Given the description of an element on the screen output the (x, y) to click on. 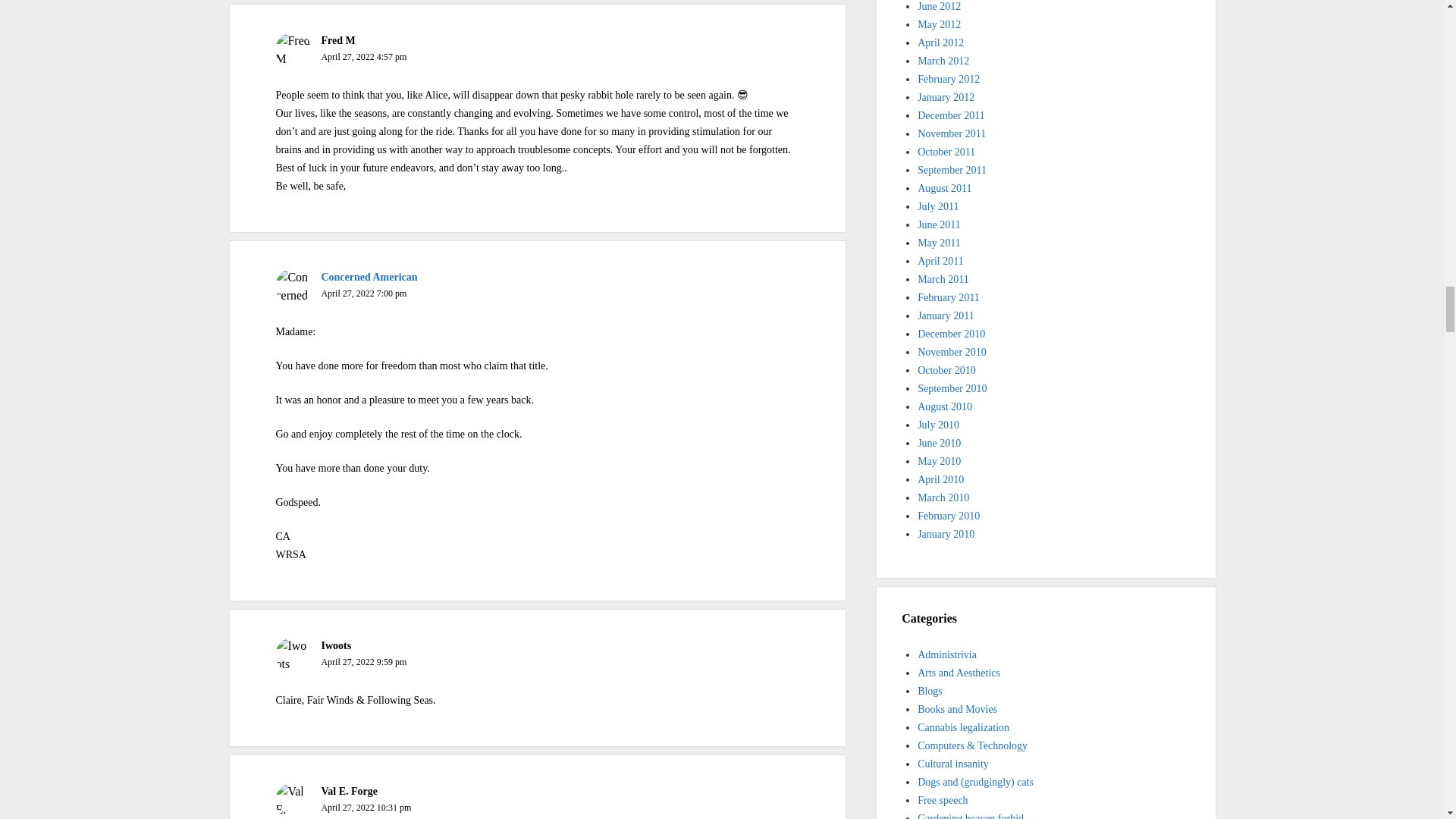
Concerned American (368, 276)
Other people's cool blogs (929, 690)
